Given the description of an element on the screen output the (x, y) to click on. 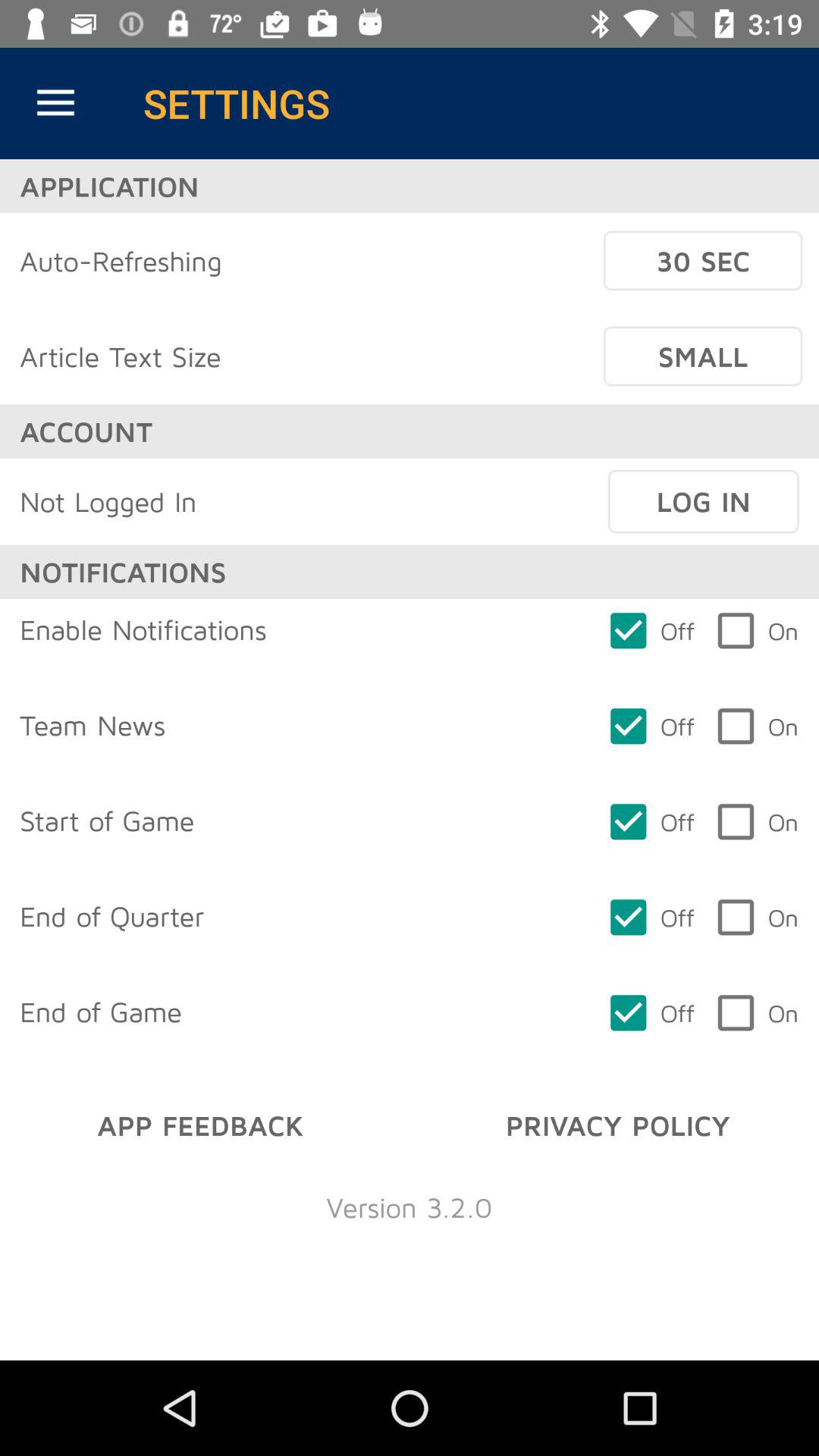
click the icon next to not logged in icon (703, 501)
